Given the description of an element on the screen output the (x, y) to click on. 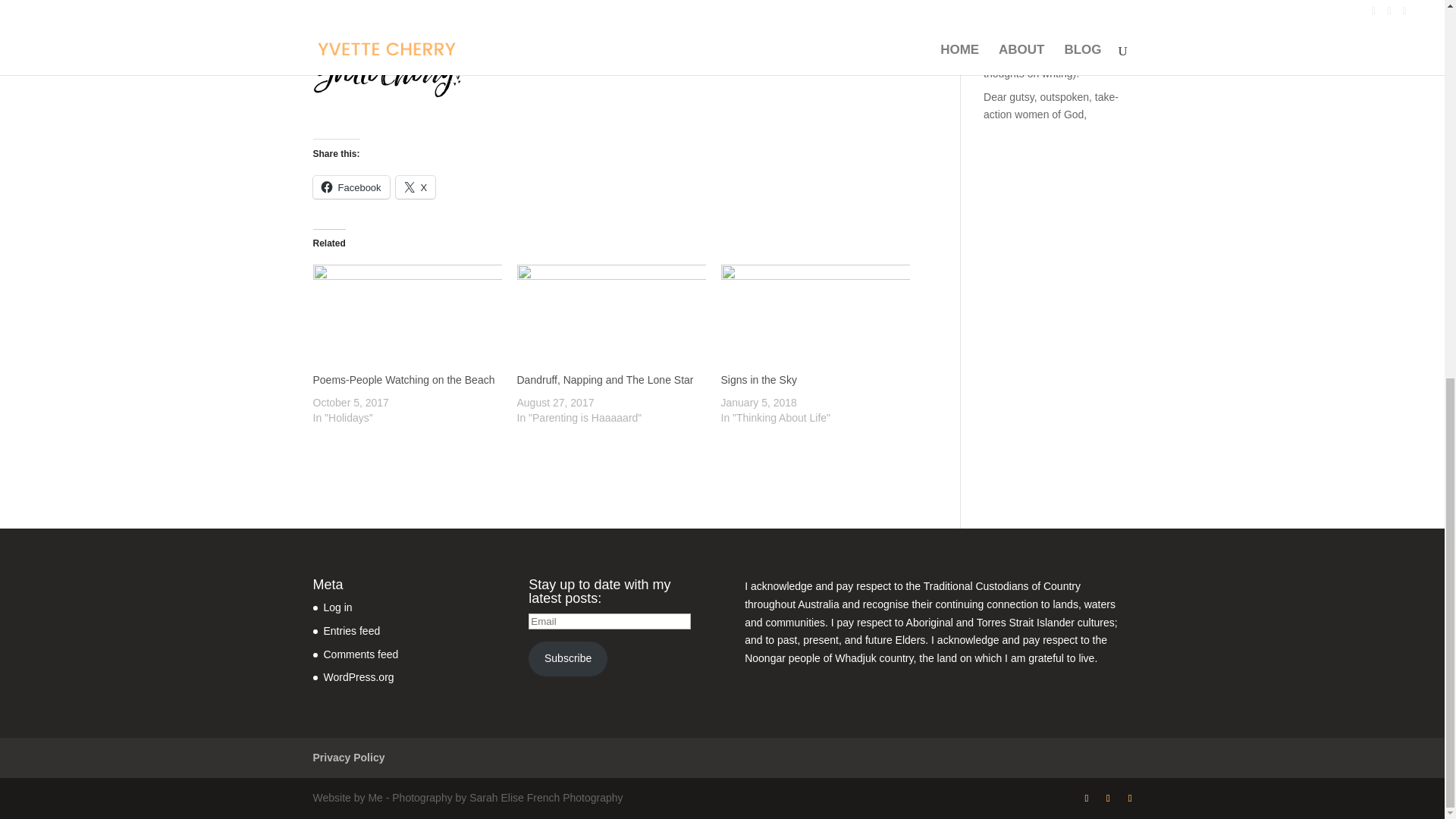
Poems-People Watching on the Beach (406, 318)
Dandruff, Napping and The Lone Star (605, 379)
Privacy Policy (348, 757)
Comments feed (360, 654)
Signs in the Sky (758, 379)
Poems-People Watching on the Beach (404, 379)
Facebook (350, 187)
Click to share on X (415, 187)
Entries feed (351, 630)
Signs in the Sky (814, 318)
